Given the description of an element on the screen output the (x, y) to click on. 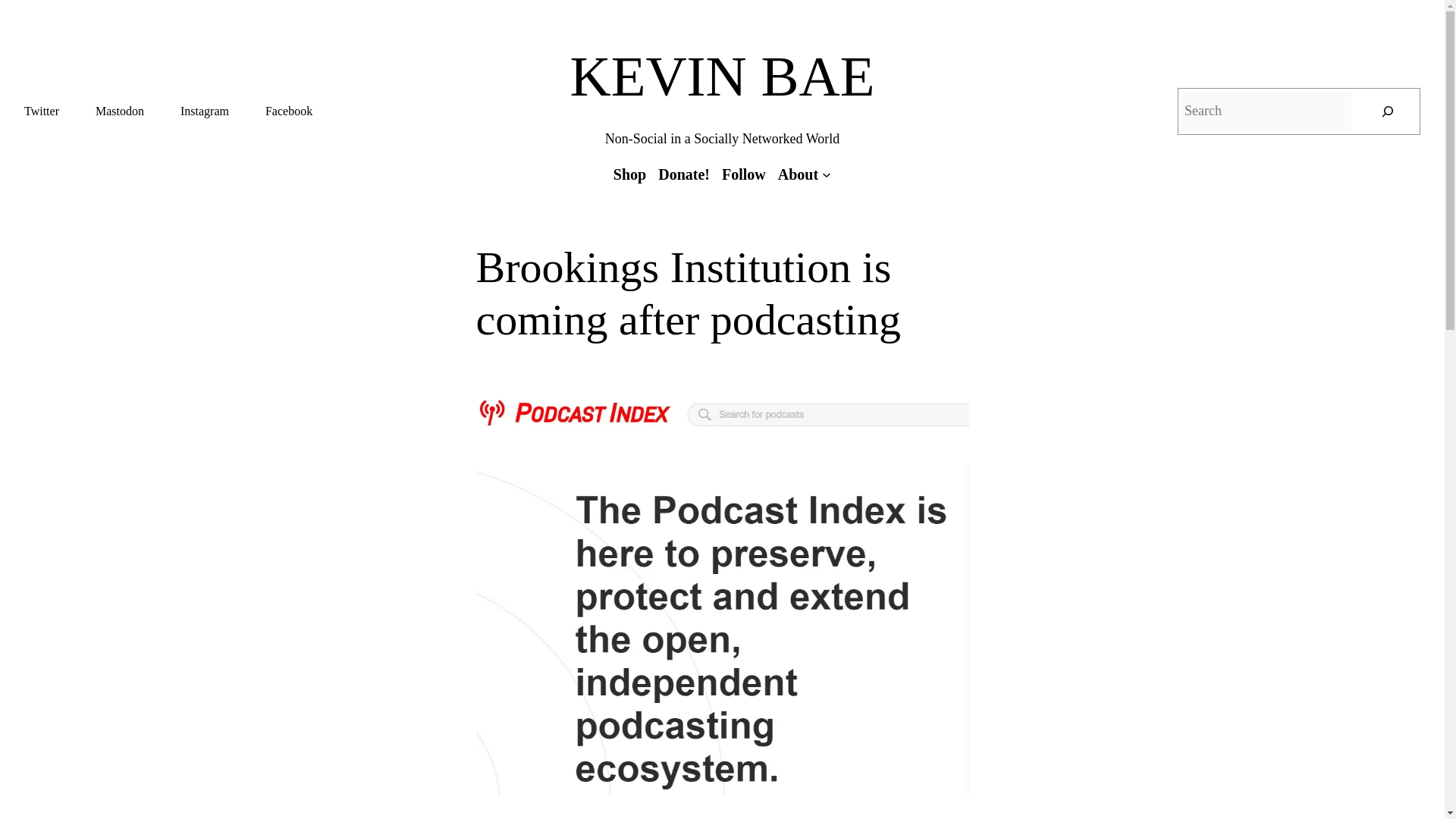
Donate! (684, 174)
Instagram (204, 111)
Follow (743, 174)
Shop (629, 174)
Facebook (288, 111)
About (797, 174)
Twitter (41, 111)
Mastodon (120, 111)
KEVIN BAE (722, 76)
